Given the description of an element on the screen output the (x, y) to click on. 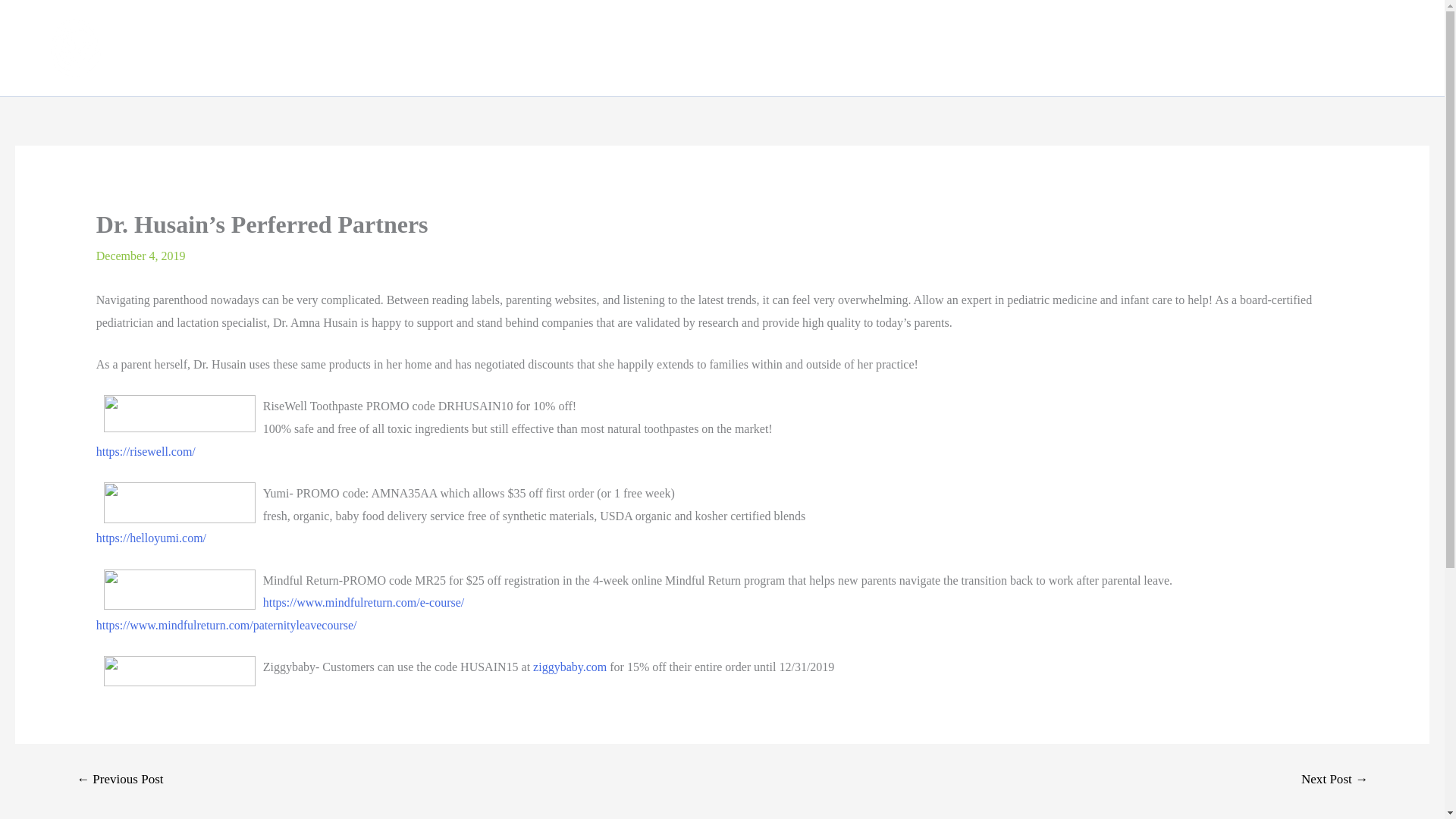
In The News (1112, 48)
ziggybaby.com (569, 666)
Pediatrician Explains (1233, 48)
Home (972, 48)
Contact (1394, 48)
About (1033, 48)
